Given the description of an element on the screen output the (x, y) to click on. 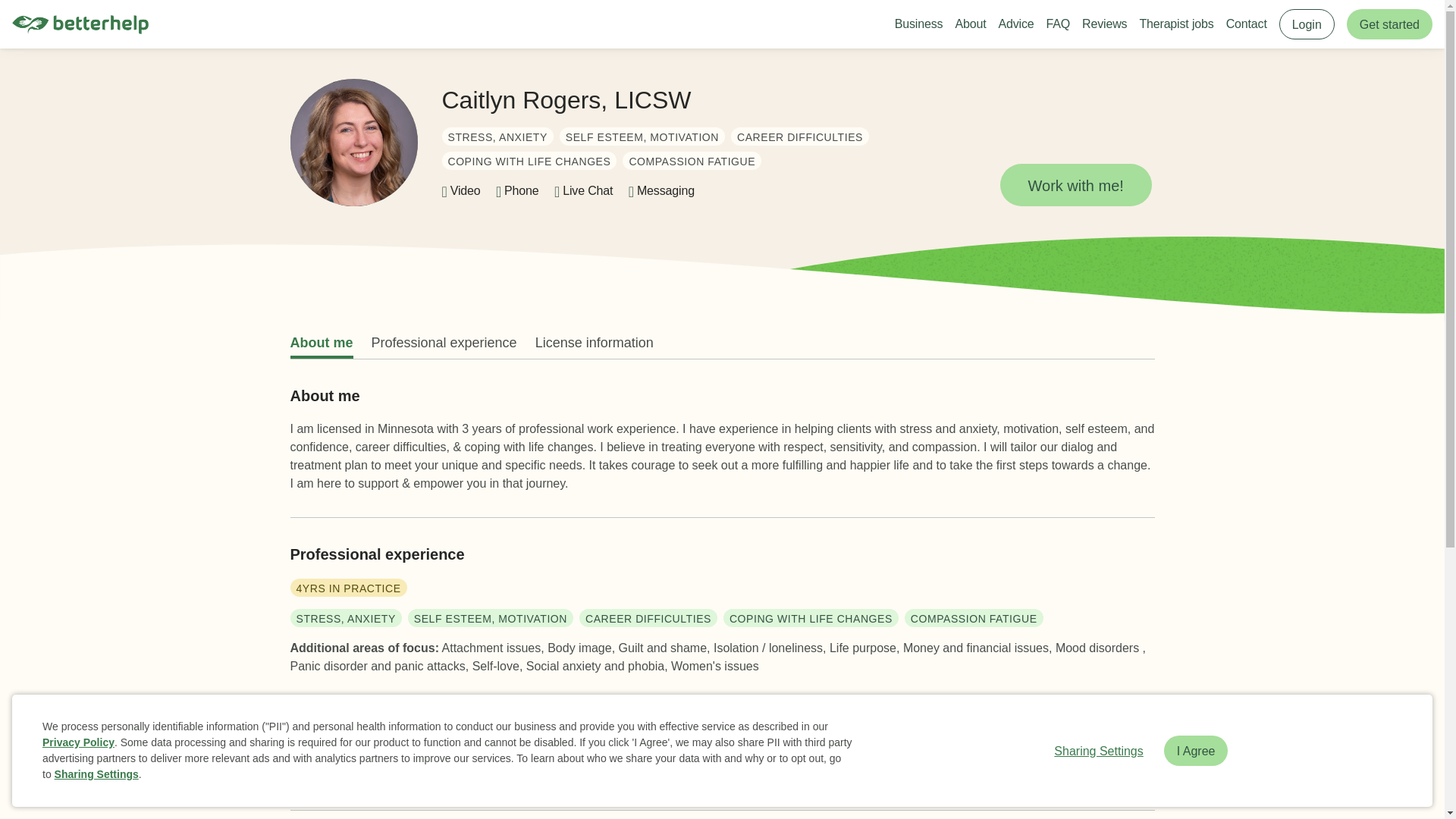
Get started (1389, 24)
Privacy Policy (78, 742)
Sharing Settings (1098, 750)
About me (320, 342)
Therapist jobs (1175, 24)
Login (1307, 24)
Business (919, 24)
License information (594, 342)
Work with me! (1074, 184)
Professional experience (443, 342)
